Given the description of an element on the screen output the (x, y) to click on. 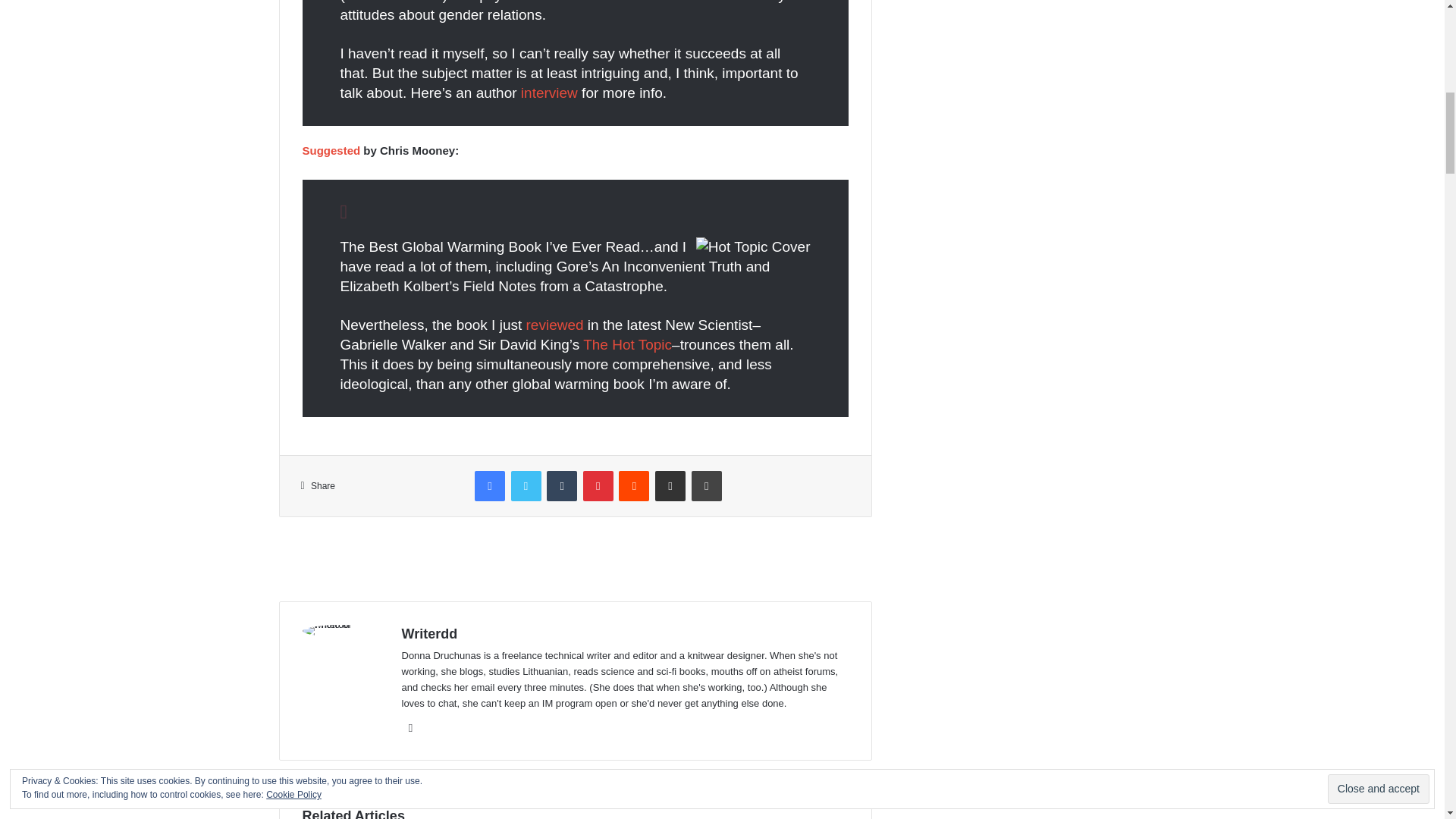
Share via Email (670, 485)
interview (549, 92)
Suggested (330, 150)
Facebook (489, 485)
Share via Email (670, 485)
Reddit (633, 485)
Tumblr (561, 485)
The Hot Topic (627, 344)
Writerdd (429, 633)
Twitter (526, 485)
Print (706, 485)
Pinterest (597, 485)
Tumblr (561, 485)
Twitter (526, 485)
Print (706, 485)
